Given the description of an element on the screen output the (x, y) to click on. 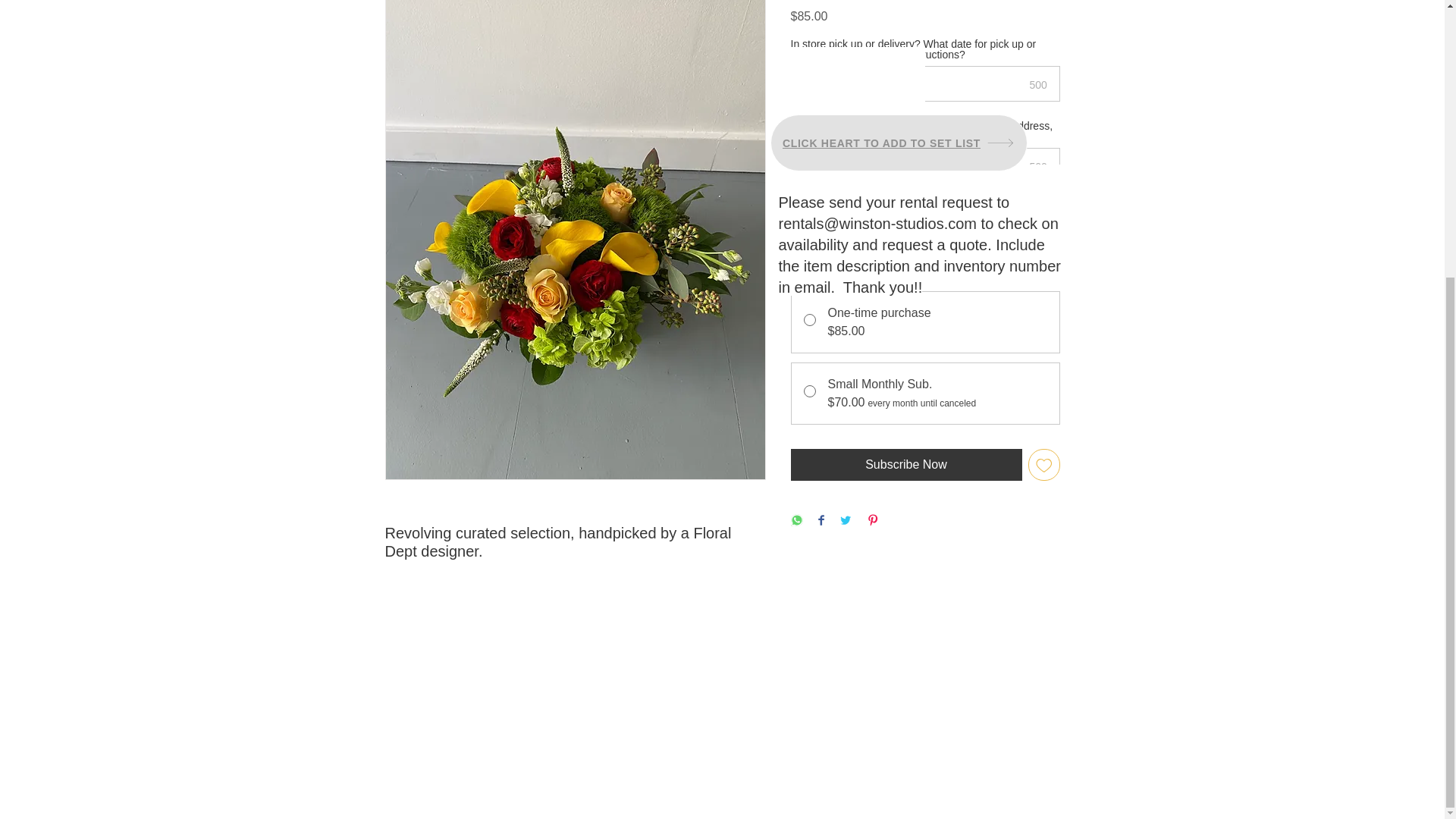
1 (818, 238)
CLICK HEART TO ADD TO SET LIST (898, 142)
Subscribe Now (906, 463)
